Given the description of an element on the screen output the (x, y) to click on. 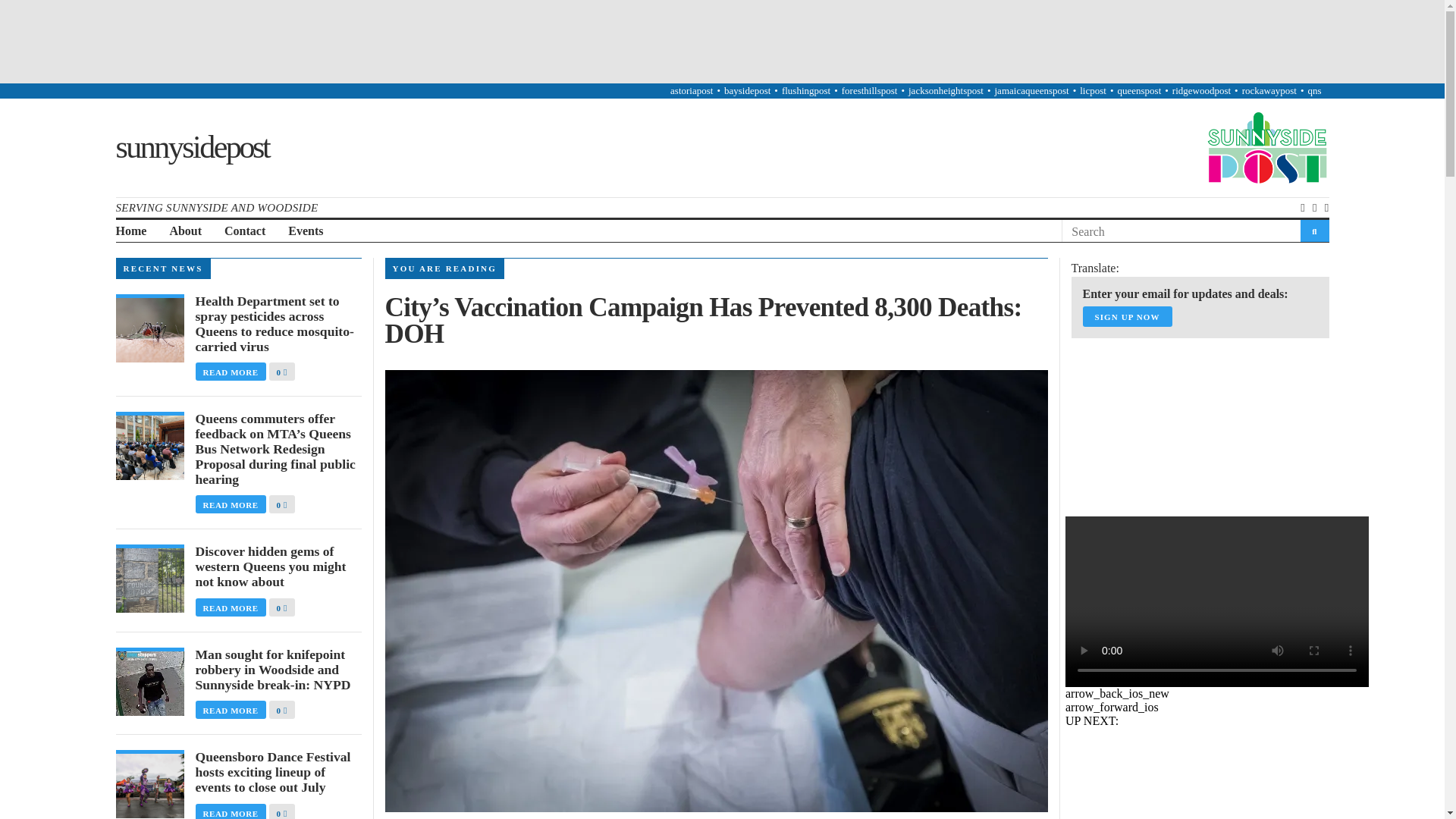
sunnysidepost (191, 146)
jamaicaqueenspost (1031, 90)
jacksonheightspost (946, 90)
Contact (244, 231)
flushingpost (805, 90)
baysidepost (746, 90)
Events (305, 231)
foresthillspost (869, 90)
astoriapost (691, 90)
3rd party ad content (721, 41)
queenspost (1138, 90)
licpost (1093, 90)
About (185, 231)
Home (131, 231)
ridgewoodpost (1201, 90)
